Given the description of an element on the screen output the (x, y) to click on. 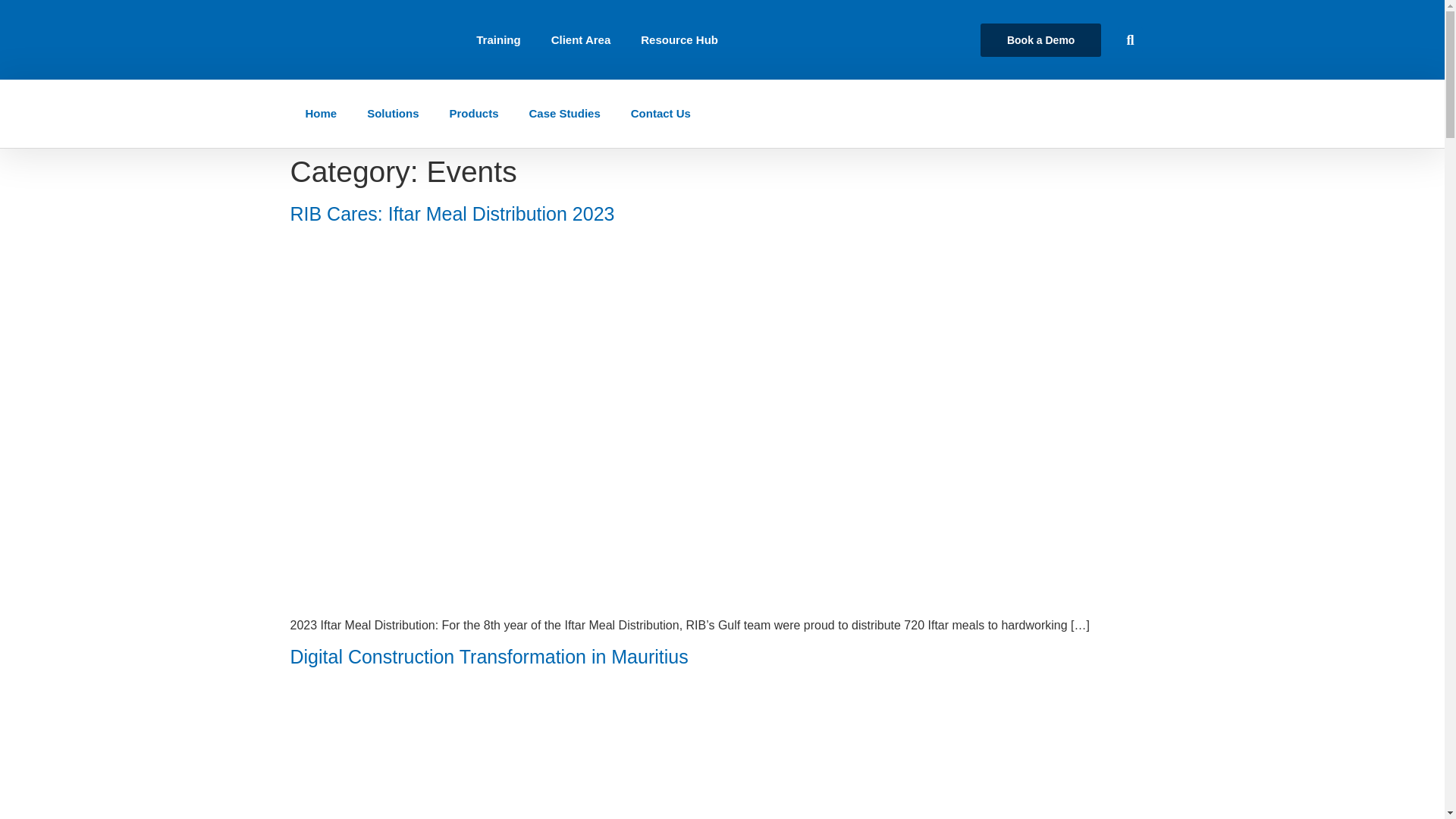
Training (498, 39)
Client Area (580, 39)
Book a Demo (1039, 39)
Resource Hub (679, 39)
